Given the description of an element on the screen output the (x, y) to click on. 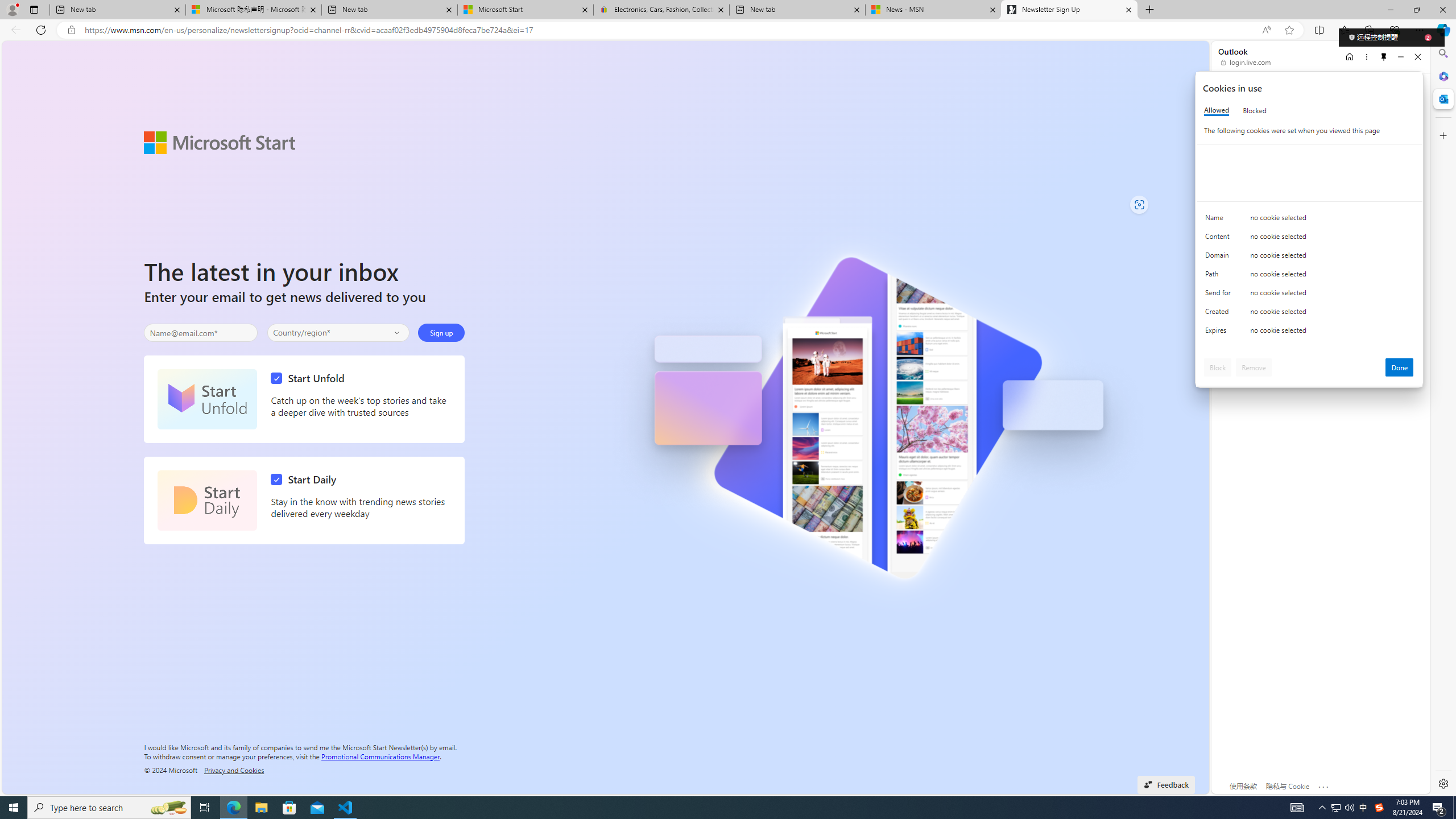
Block (1217, 367)
login.live.com (1246, 61)
Privacy and Cookies (233, 769)
Path (1219, 276)
Select your country (338, 332)
Domain (1219, 257)
Created (1219, 313)
Send for (1219, 295)
Start Unfold (207, 399)
Expires (1219, 332)
